Given the description of an element on the screen output the (x, y) to click on. 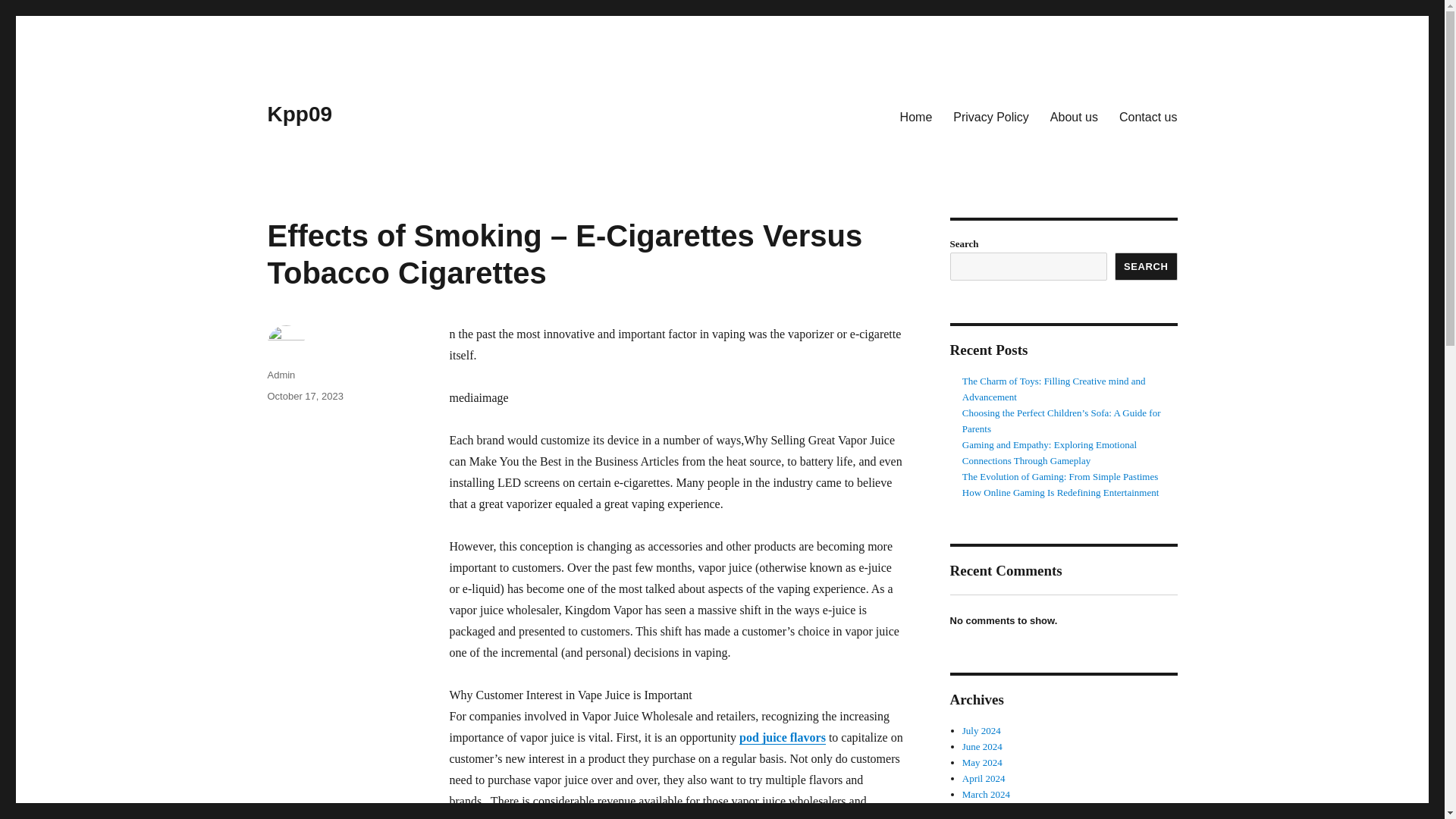
Admin (280, 374)
Contact us (1148, 116)
March 2024 (986, 794)
The Charm of Toys: Filling Creative mind and Advancement (1053, 388)
The Evolution of Gaming: From Simple Pastimes (1060, 476)
February 2024 (991, 809)
Privacy Policy (990, 116)
pod juice flavors (782, 737)
Home (916, 116)
October 17, 2023 (304, 396)
June 2024 (982, 746)
How Online Gaming Is Redefining Entertainment (1060, 491)
About us (1073, 116)
SEARCH (1146, 266)
